Given the description of an element on the screen output the (x, y) to click on. 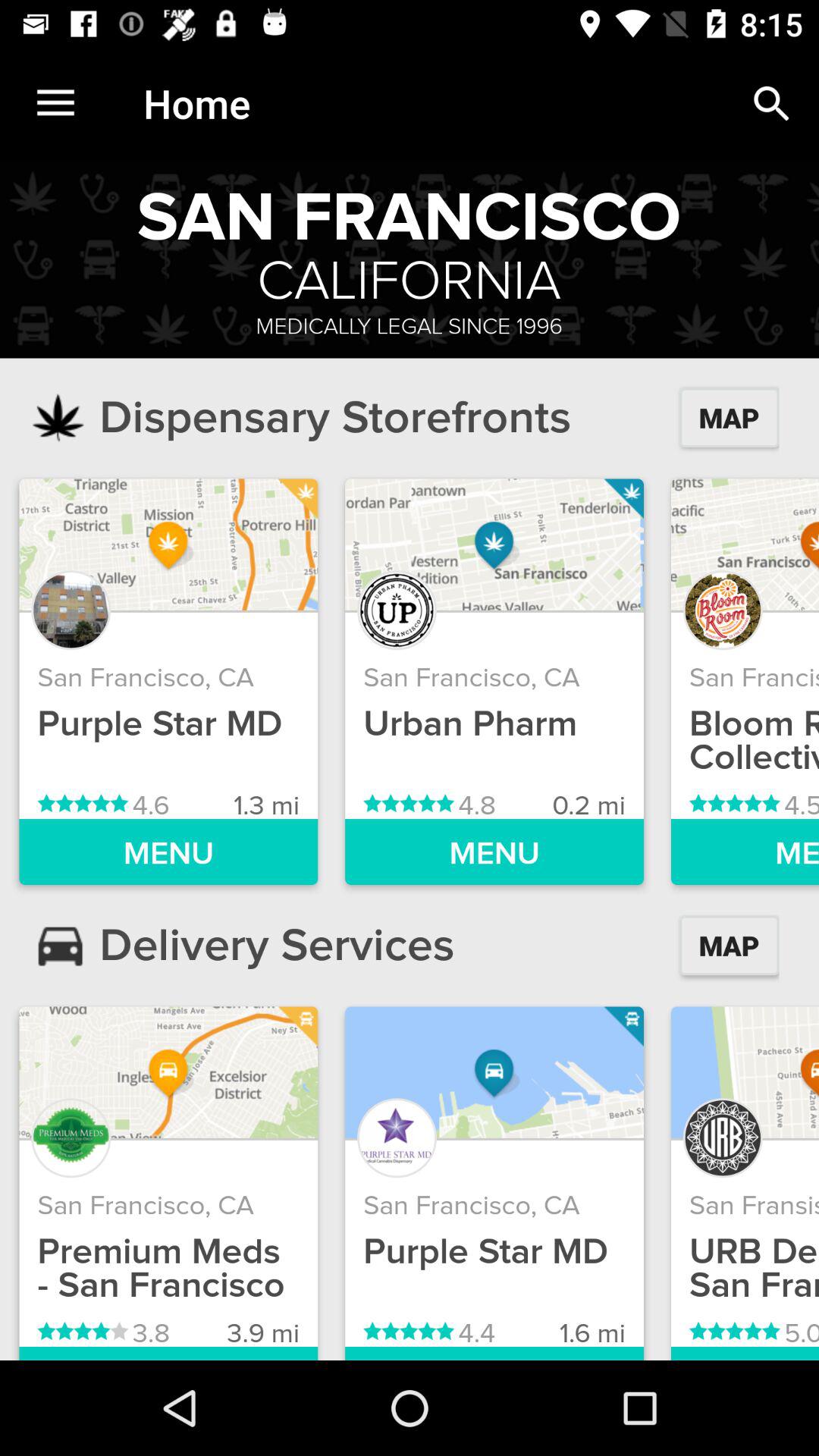
open the icon next to the home (771, 103)
